Given the description of an element on the screen output the (x, y) to click on. 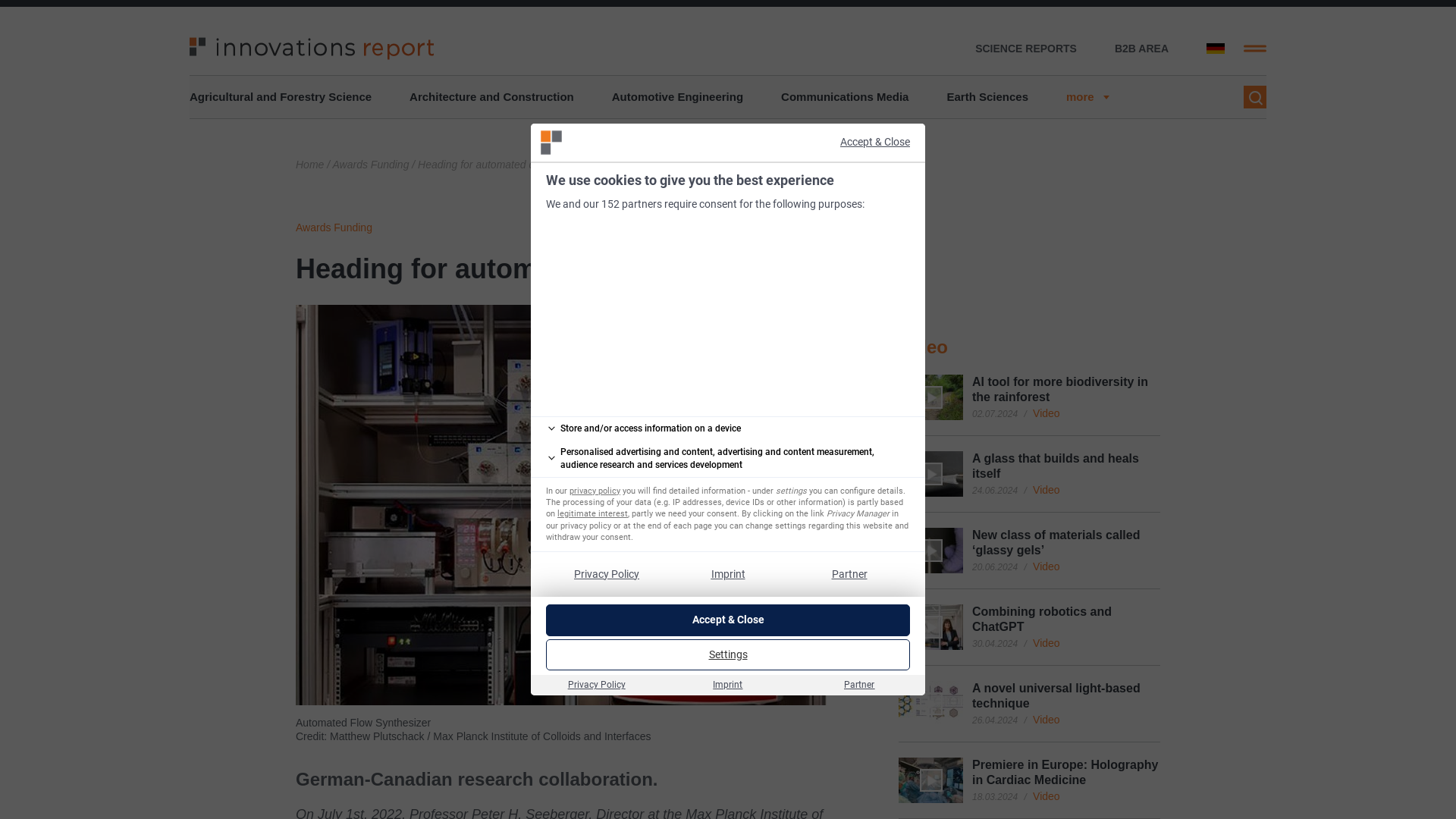
Automotive Engineering (676, 96)
Communications Media (844, 96)
SCIENCE REPORTS (1026, 48)
B2B AREA (1142, 48)
Earth Sciences (986, 96)
Architecture and Construction (491, 96)
Agricultural and Forestry Science (280, 96)
